Given the description of an element on the screen output the (x, y) to click on. 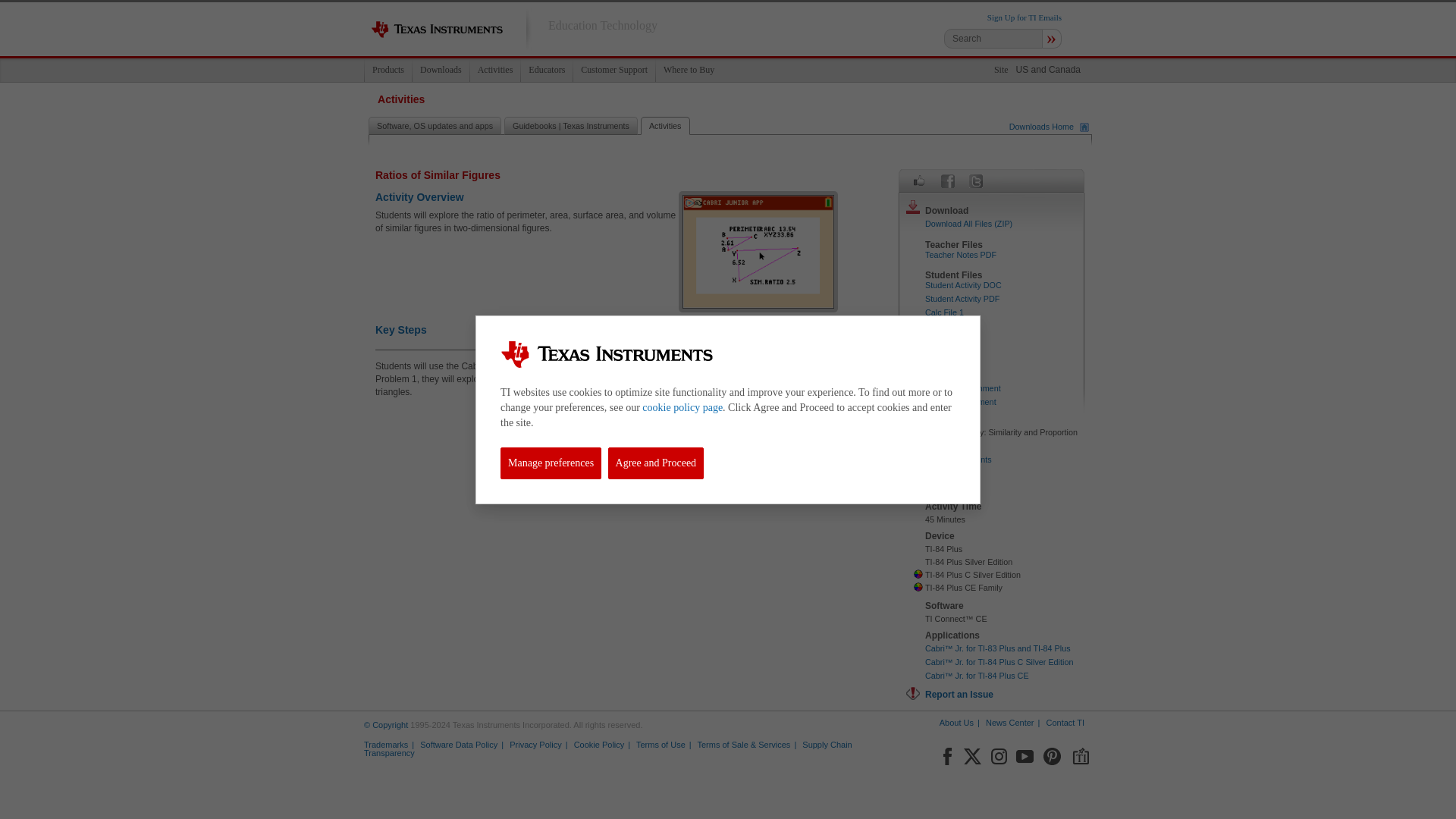
Pinterest (1052, 753)
Educators (545, 69)
Products (388, 69)
Facebook (947, 180)
Facebook (946, 753)
YouTube (1025, 753)
Twitter (975, 180)
Recommend Activity (919, 180)
Activities (494, 69)
Instagram (998, 753)
